Given the description of an element on the screen output the (x, y) to click on. 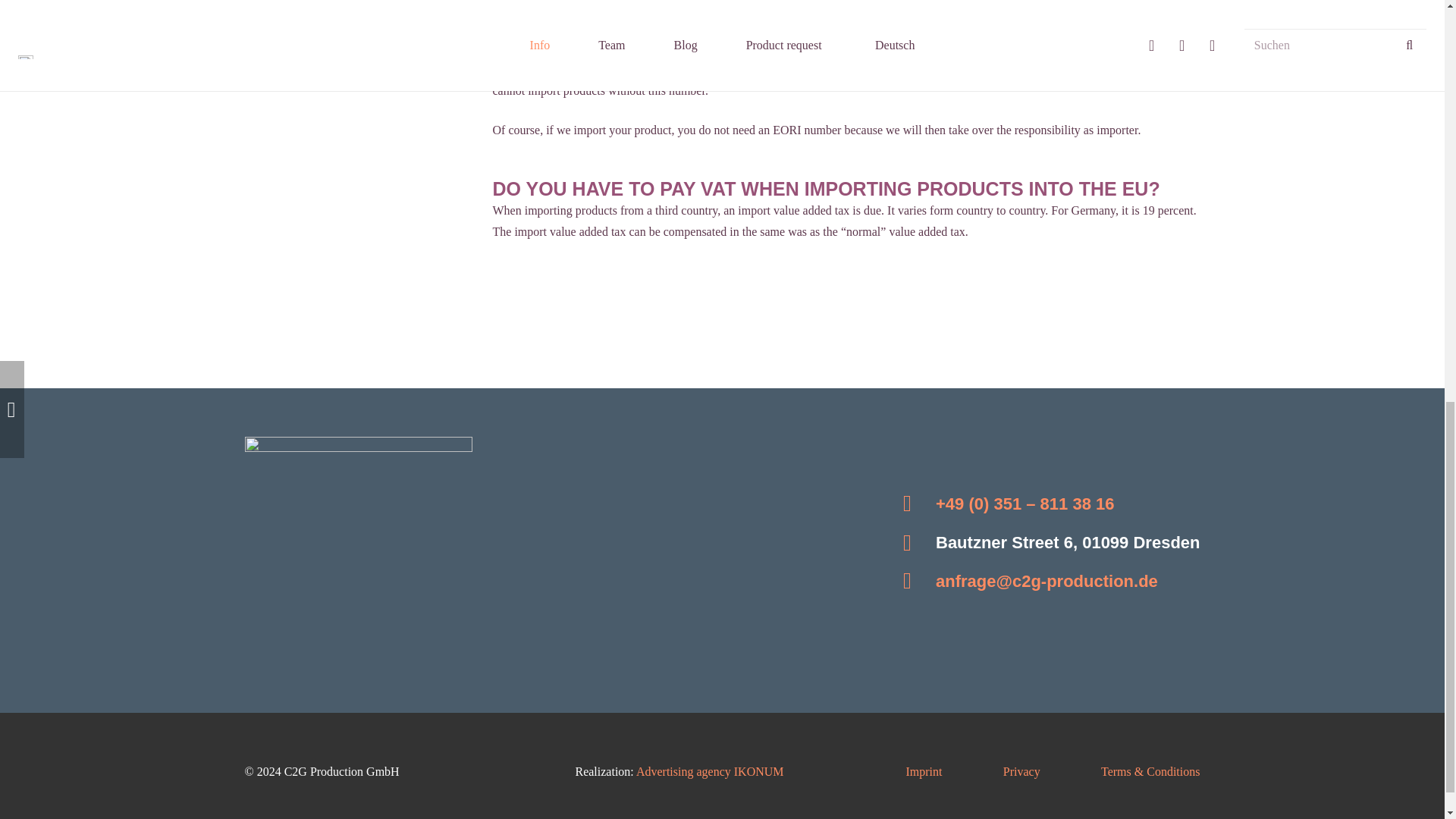
Advertising agency IKONUM (710, 771)
Imprint (923, 771)
Privacy (1022, 771)
Back to top (1413, 26)
